Given the description of an element on the screen output the (x, y) to click on. 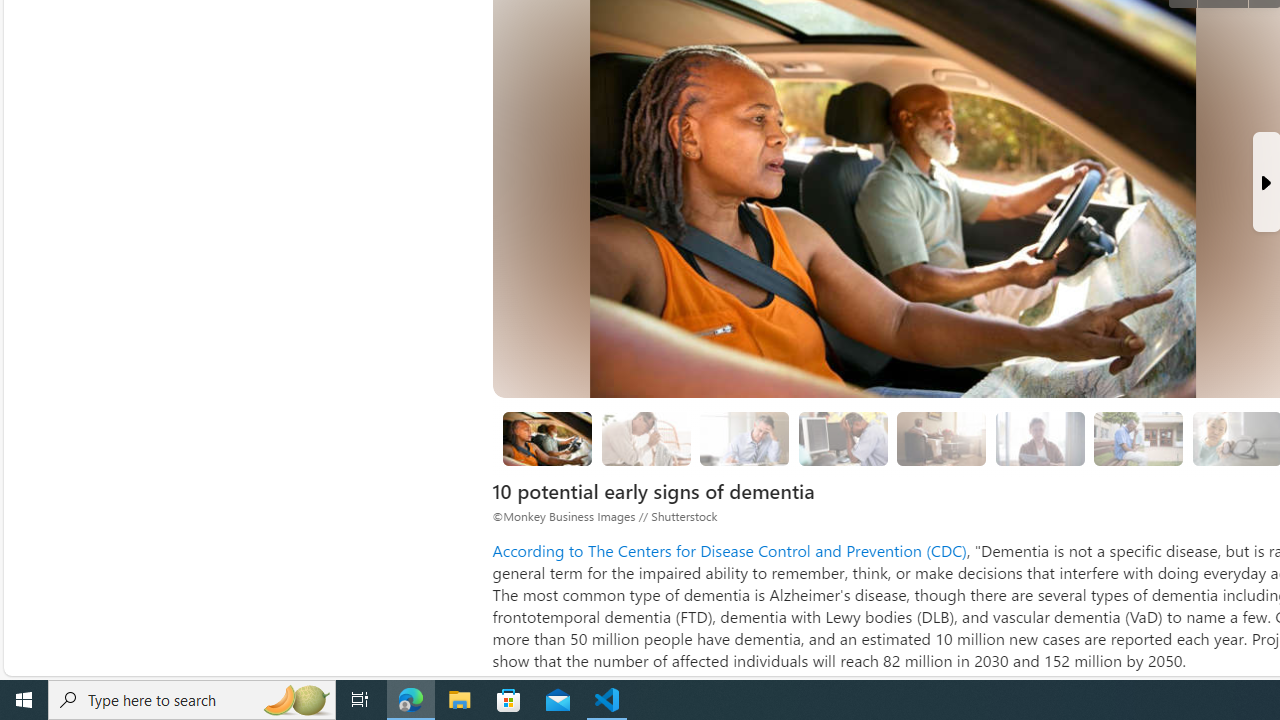
10 potential early signs of dementia (547, 438)
Confusion with time or place (941, 438)
Confusion with time or place (941, 439)
Challenges in planning or solving problems (744, 438)
New problems with words in speaking or writing (1139, 438)
Trouble understanding visual images and spatial relations (1039, 439)
Class: progress (1138, 435)
Memory loss that disrupts daily life (646, 439)
Trouble understanding visual images and spatial relations (1039, 438)
Memory loss that disrupts daily life (646, 438)
Challenges in planning or solving problems (743, 439)
10 potential early signs of dementia (546, 439)
